Given the description of an element on the screen output the (x, y) to click on. 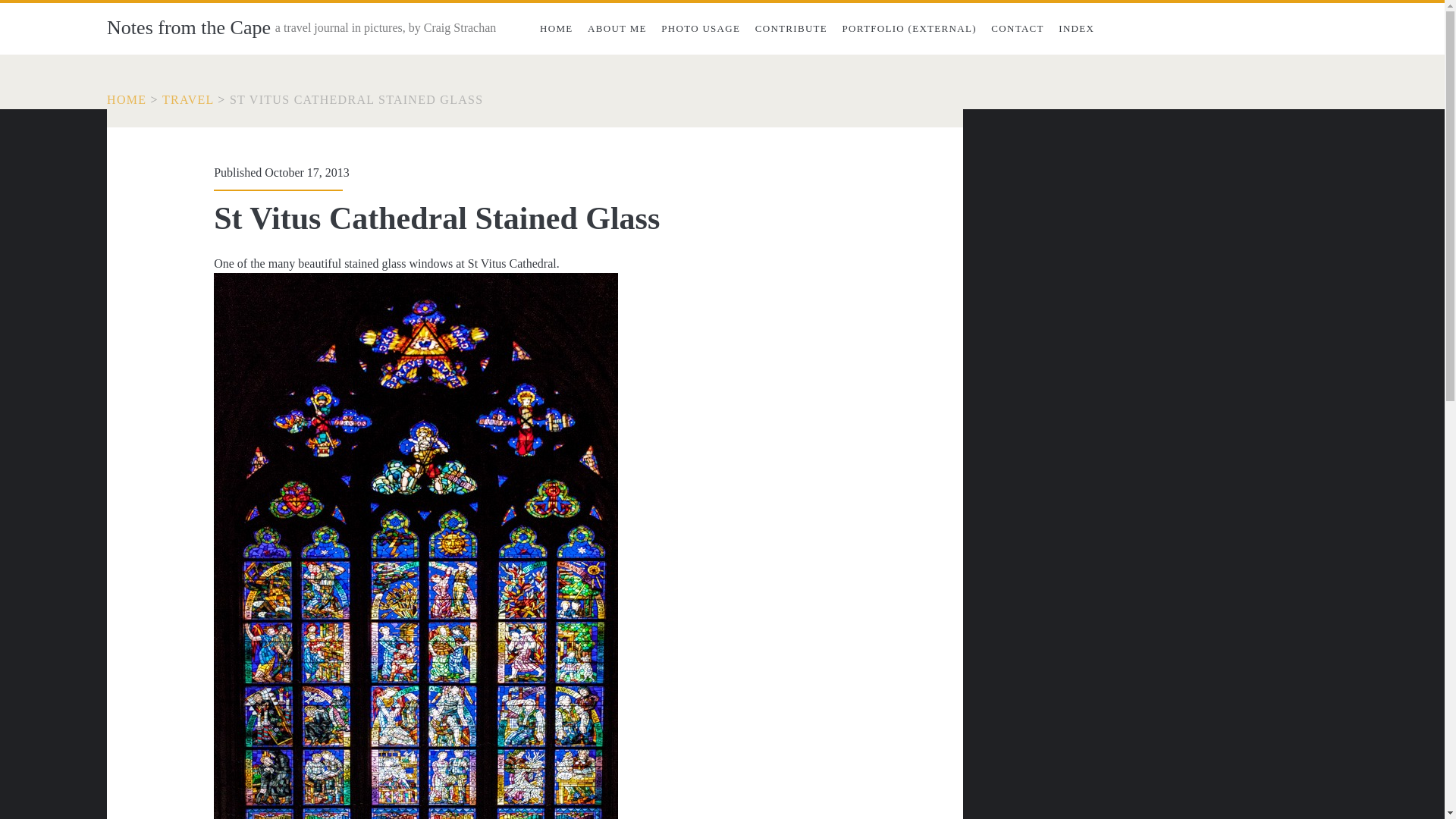
TRAVEL (187, 99)
HOME (126, 99)
St Vitus Cathedral Stained Glass (356, 99)
Notes from the Cape (188, 27)
PHOTO USAGE (700, 28)
ABOUT ME (616, 28)
HOME (555, 28)
INDEX (1076, 28)
CONTACT (1017, 28)
Home (126, 99)
